Given the description of an element on the screen output the (x, y) to click on. 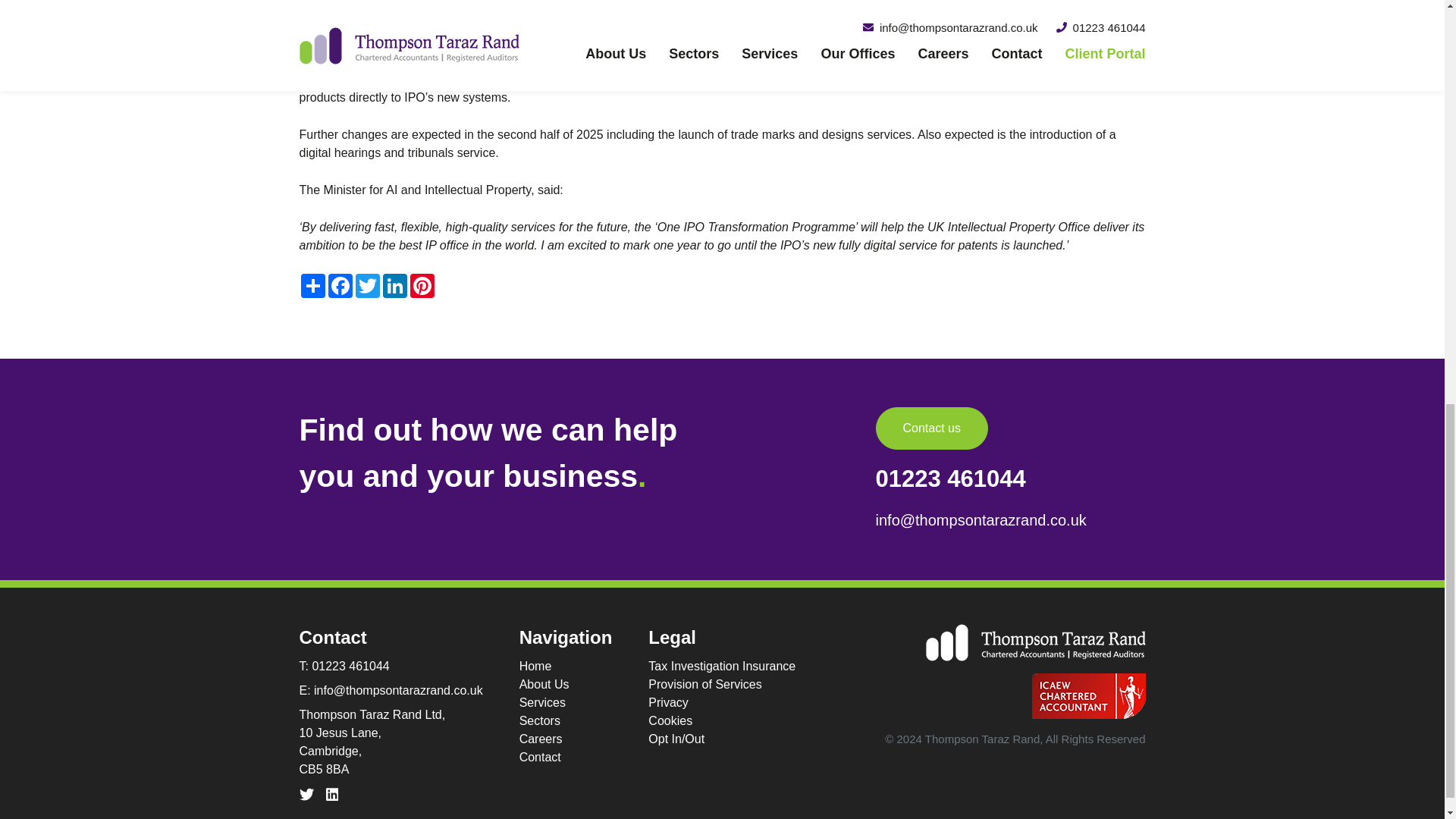
LinkedIn (393, 285)
01223 461044 (951, 479)
About Us (565, 684)
Home (565, 666)
Services (565, 702)
Contact (565, 757)
Twitter (366, 285)
Careers (565, 739)
Contact us (932, 428)
Sectors (565, 720)
